Given the description of an element on the screen output the (x, y) to click on. 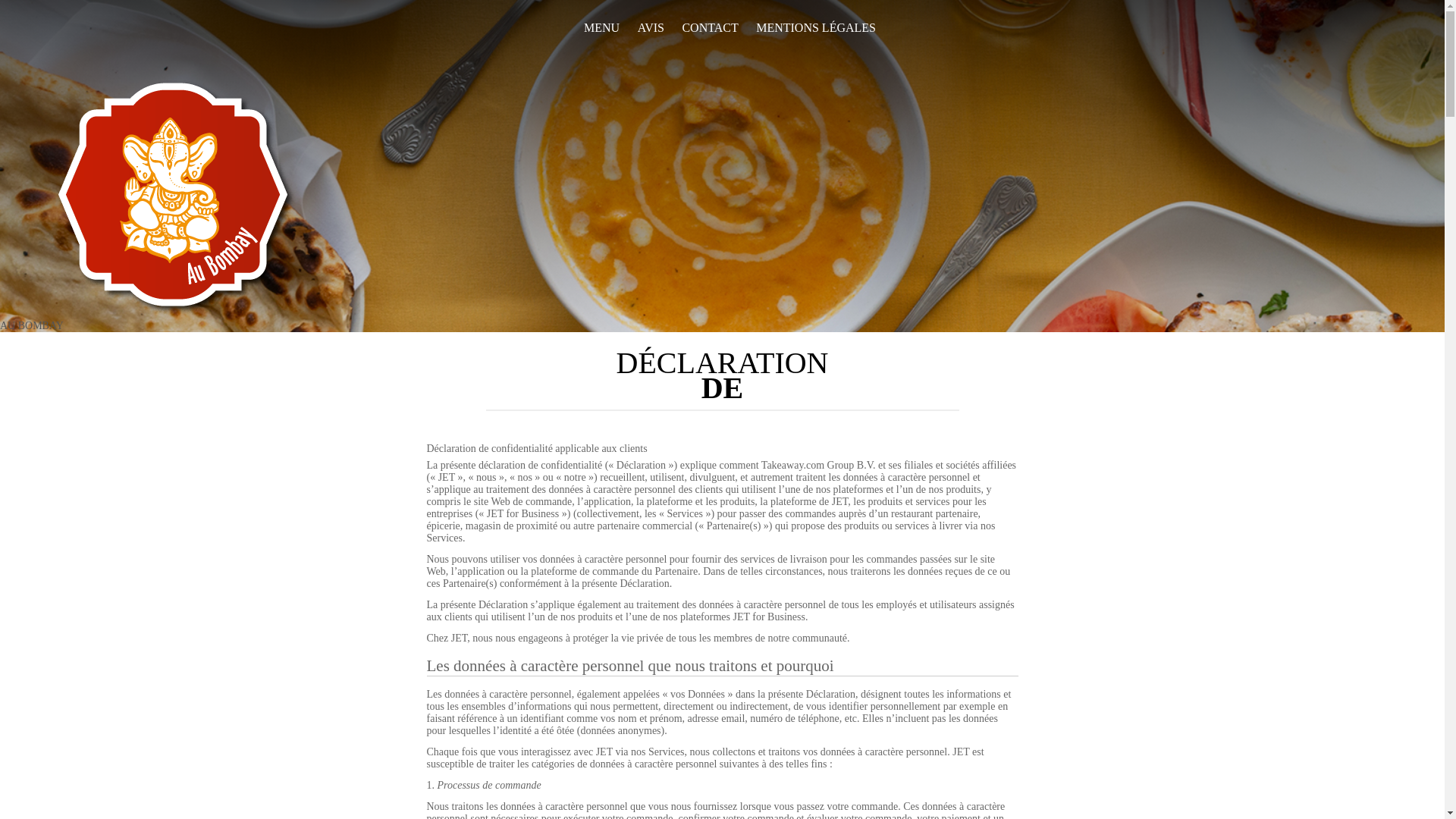
AVIS Element type: text (650, 27)
MENU Element type: text (601, 27)
CONTACT Element type: text (709, 27)
